Given the description of an element on the screen output the (x, y) to click on. 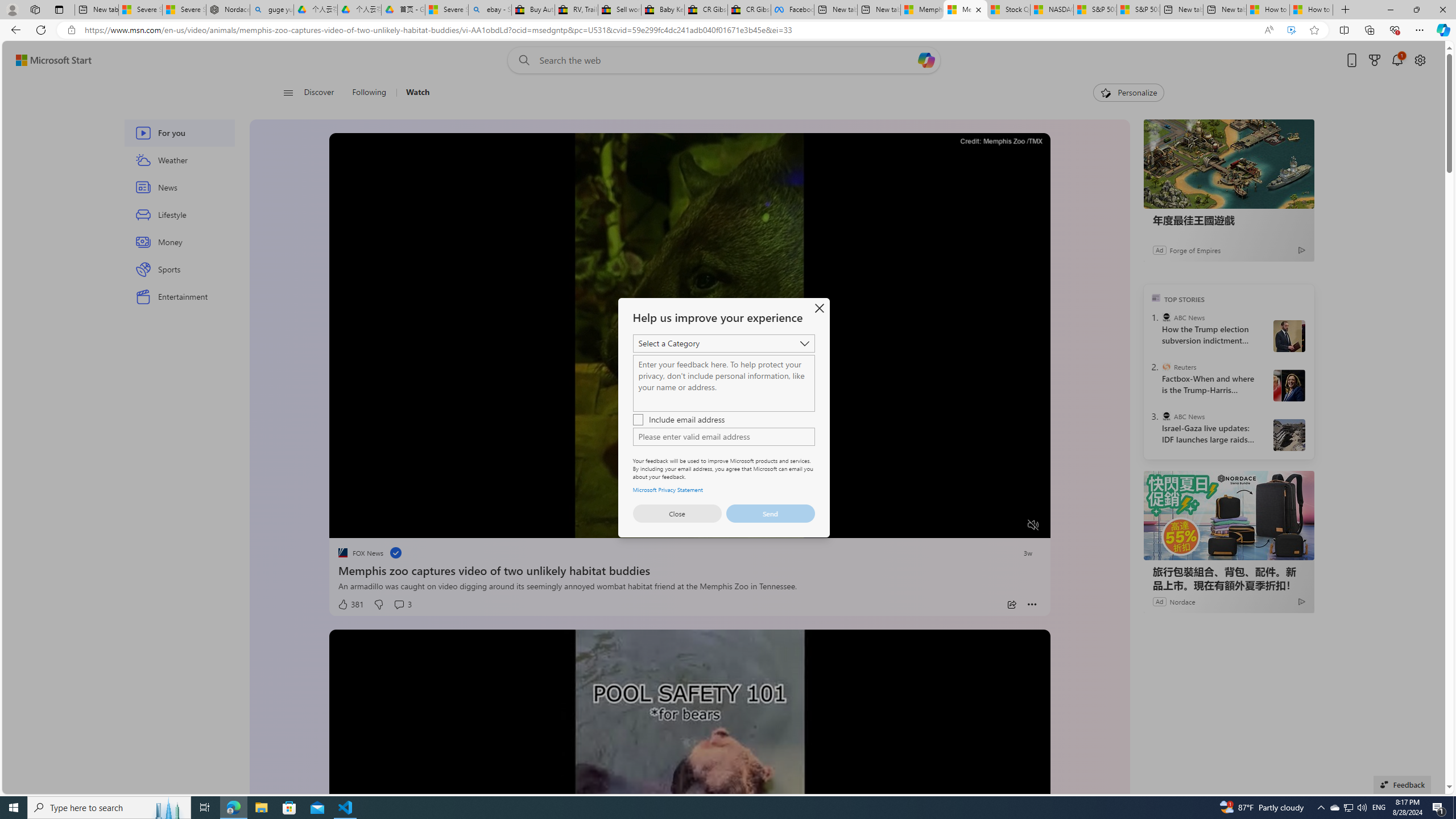
placeholder FOX News (359, 552)
Enter your search term (726, 59)
Unmute (1033, 524)
Pause (346, 525)
381 Like (349, 604)
Send (770, 512)
